Given the description of an element on the screen output the (x, y) to click on. 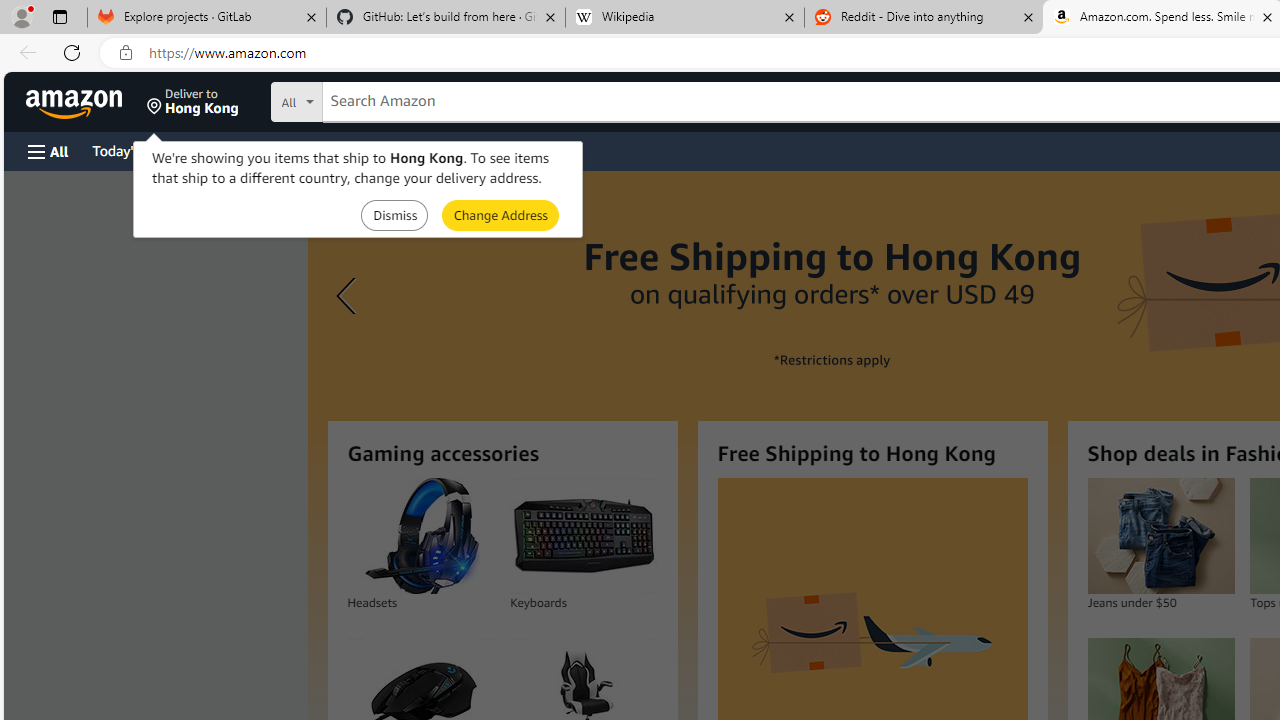
Previous slide (349, 296)
Jeans under $50 (1160, 536)
Sell (509, 150)
Gift Cards (442, 150)
Customer Service (256, 150)
Today's Deals (134, 150)
Submit (499, 214)
Wikipedia (684, 17)
Search in (371, 102)
Amazon (76, 101)
Open Menu (48, 151)
